Given the description of an element on the screen output the (x, y) to click on. 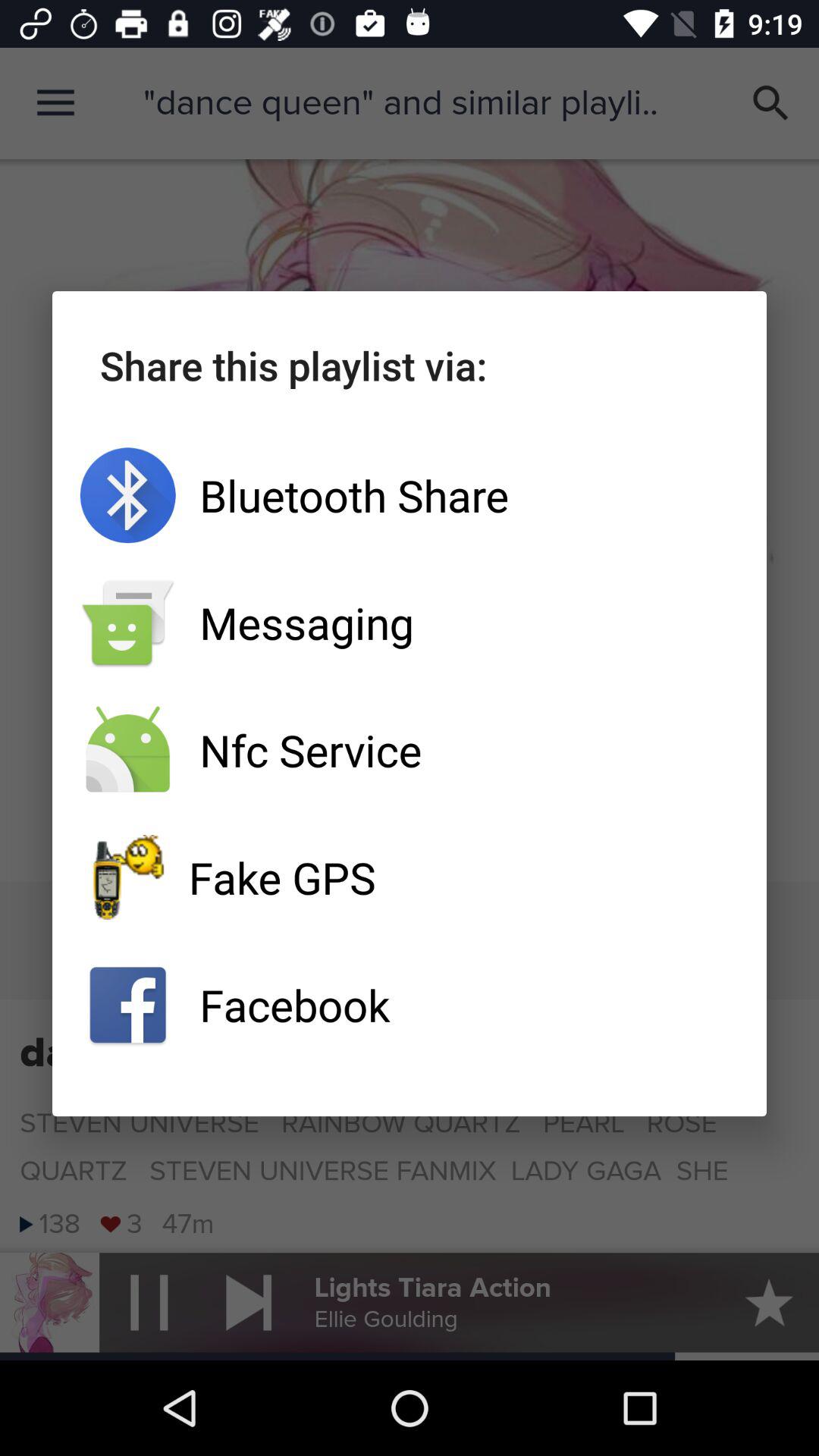
click the facebook (409, 1004)
